Given the description of an element on the screen output the (x, y) to click on. 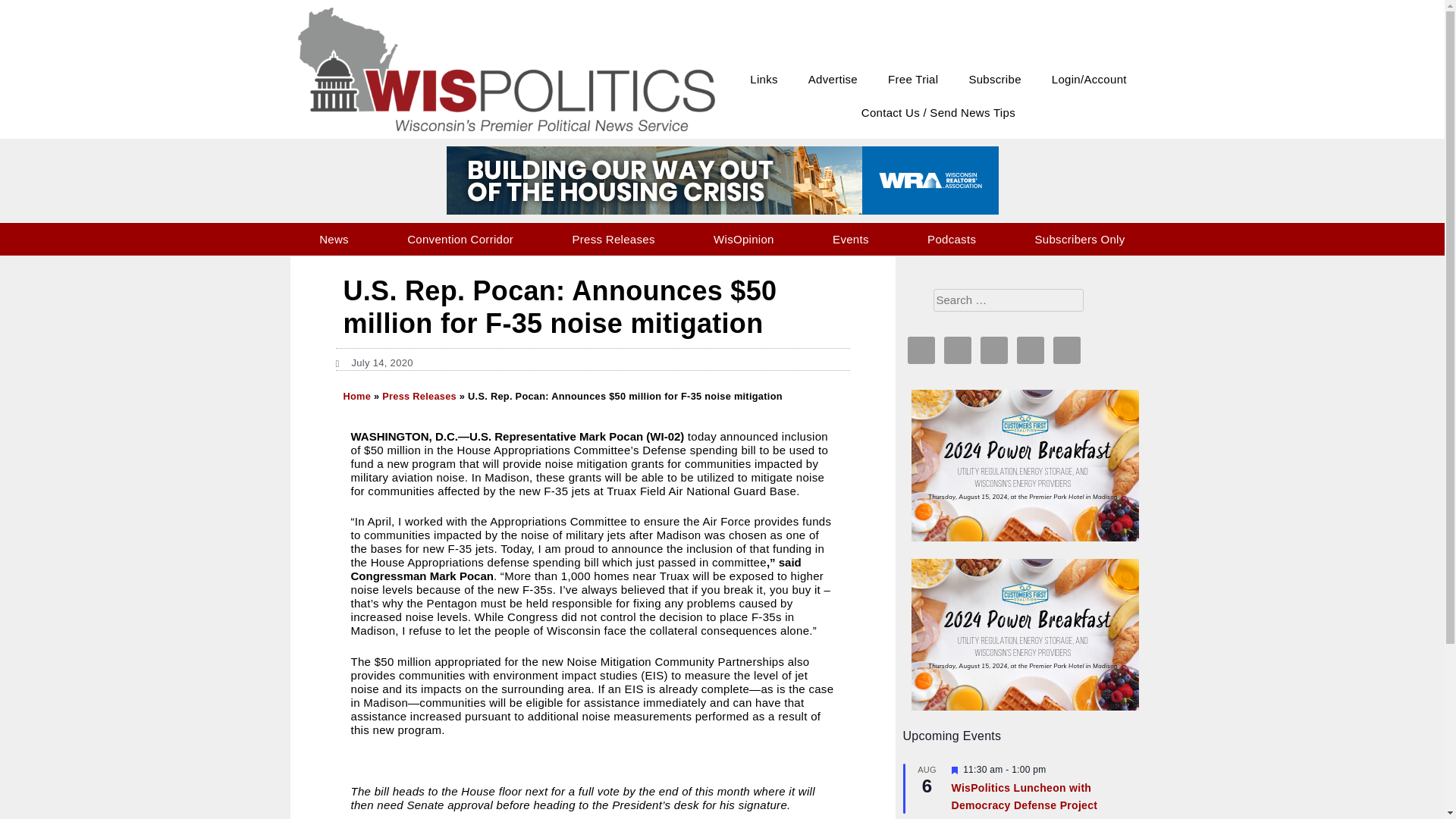
WisOpinion (749, 237)
News (339, 237)
Events (856, 237)
Links (770, 78)
Convention Corridor (466, 237)
Free Trial (919, 78)
Subscribe (1000, 78)
Press Releases (619, 237)
Podcasts (957, 237)
Advertise (837, 78)
